Given the description of an element on the screen output the (x, y) to click on. 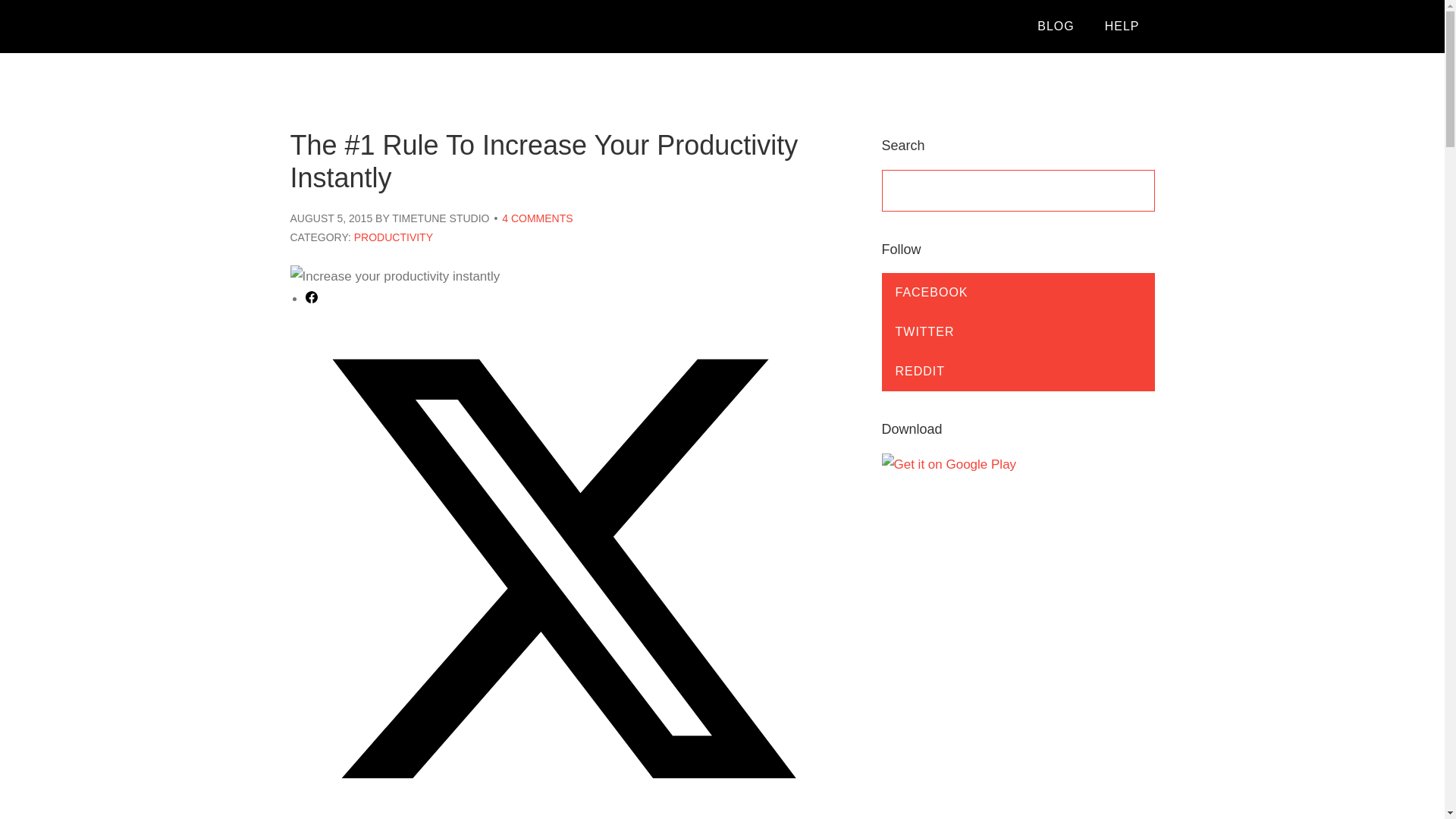
HELP (1121, 26)
TWITTER (1017, 332)
BLOG (1055, 26)
REDDIT (1017, 371)
FACEBOOK (1017, 292)
TIMETUNE (384, 26)
PRODUCTIVITY (392, 236)
4 COMMENTS (537, 218)
